Given the description of an element on the screen output the (x, y) to click on. 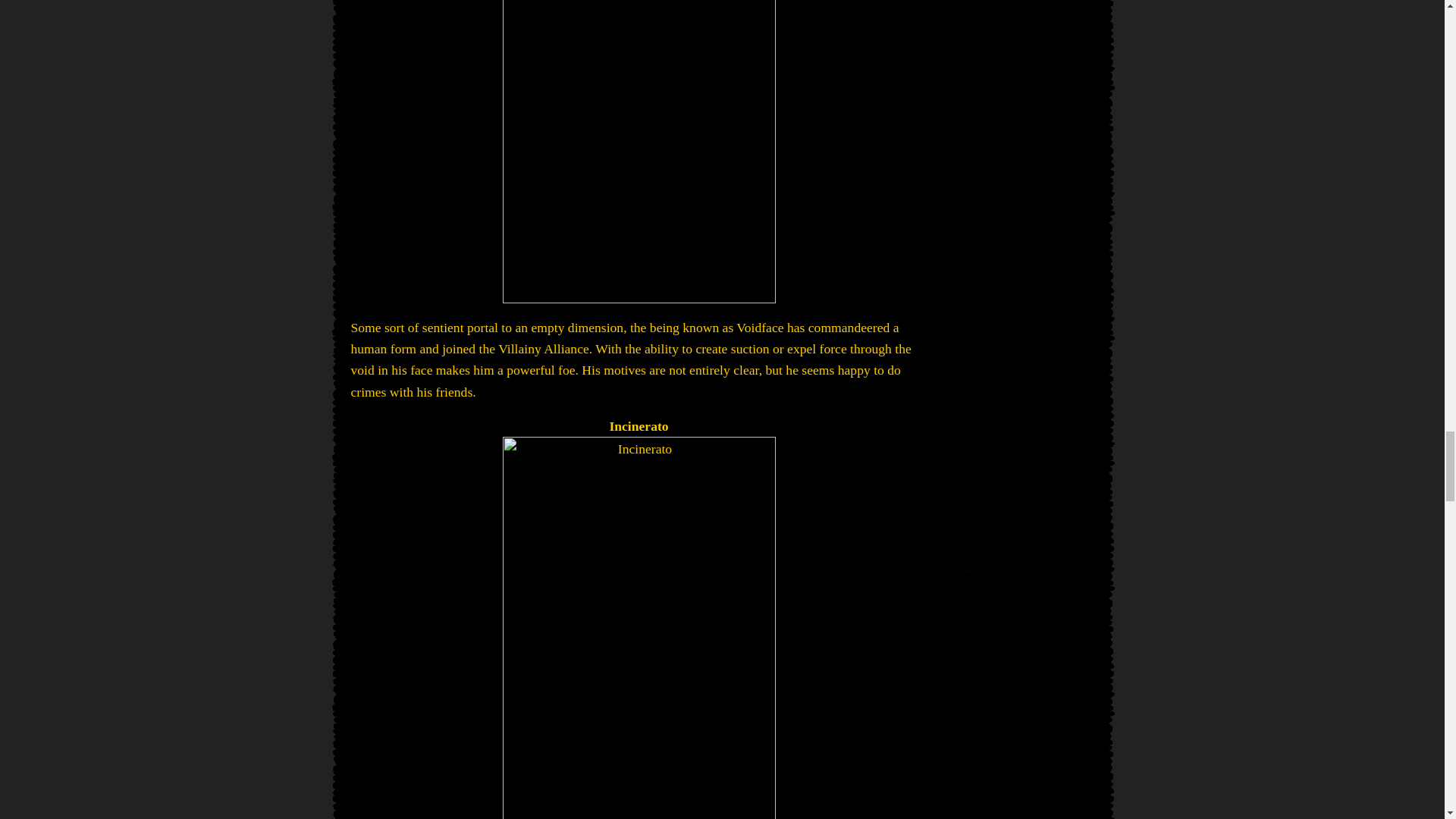
Voidface (638, 151)
